Given the description of an element on the screen output the (x, y) to click on. 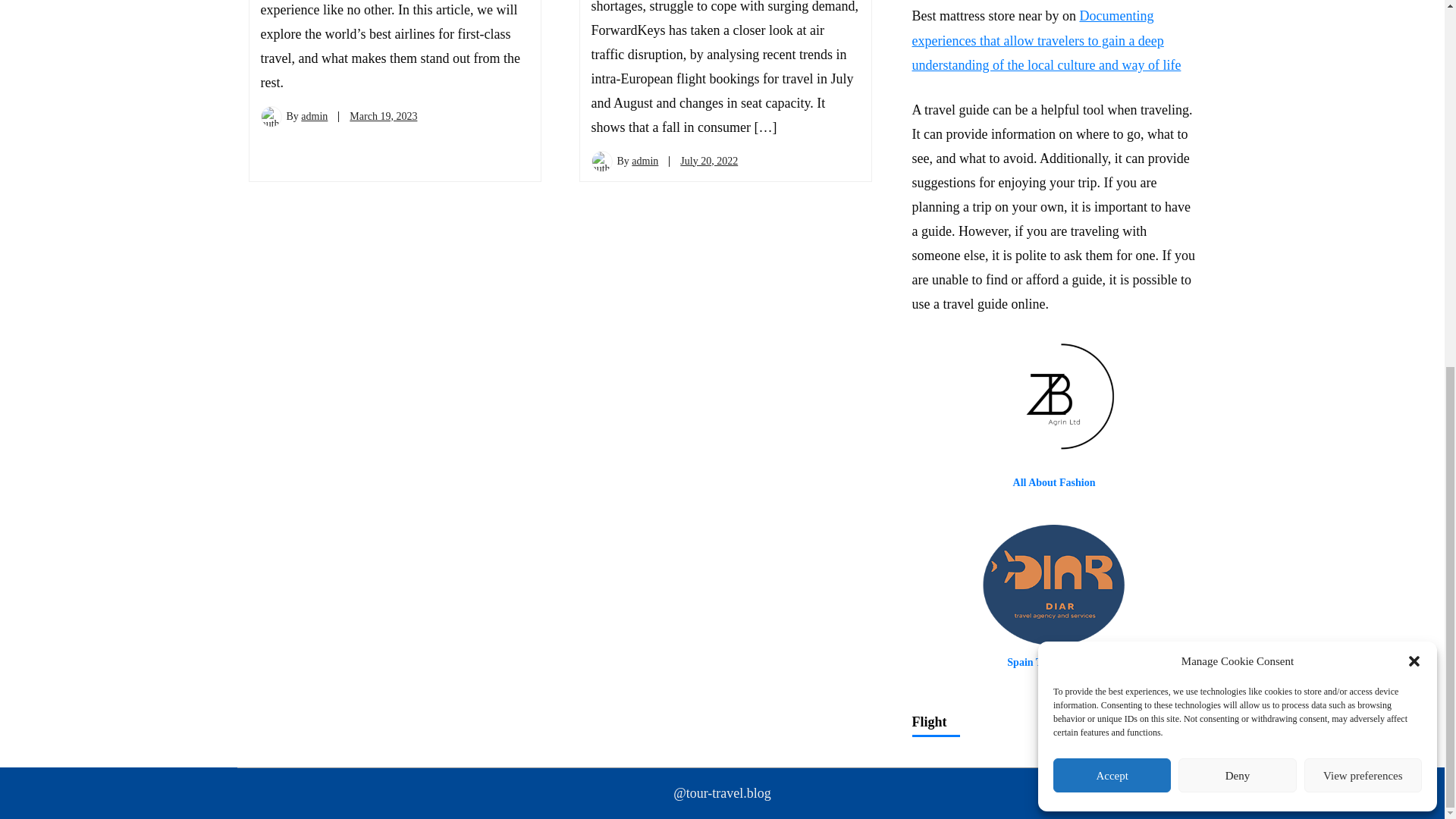
Deny (1236, 114)
Accept (1111, 114)
View preferences (1363, 114)
